Given the description of an element on the screen output the (x, y) to click on. 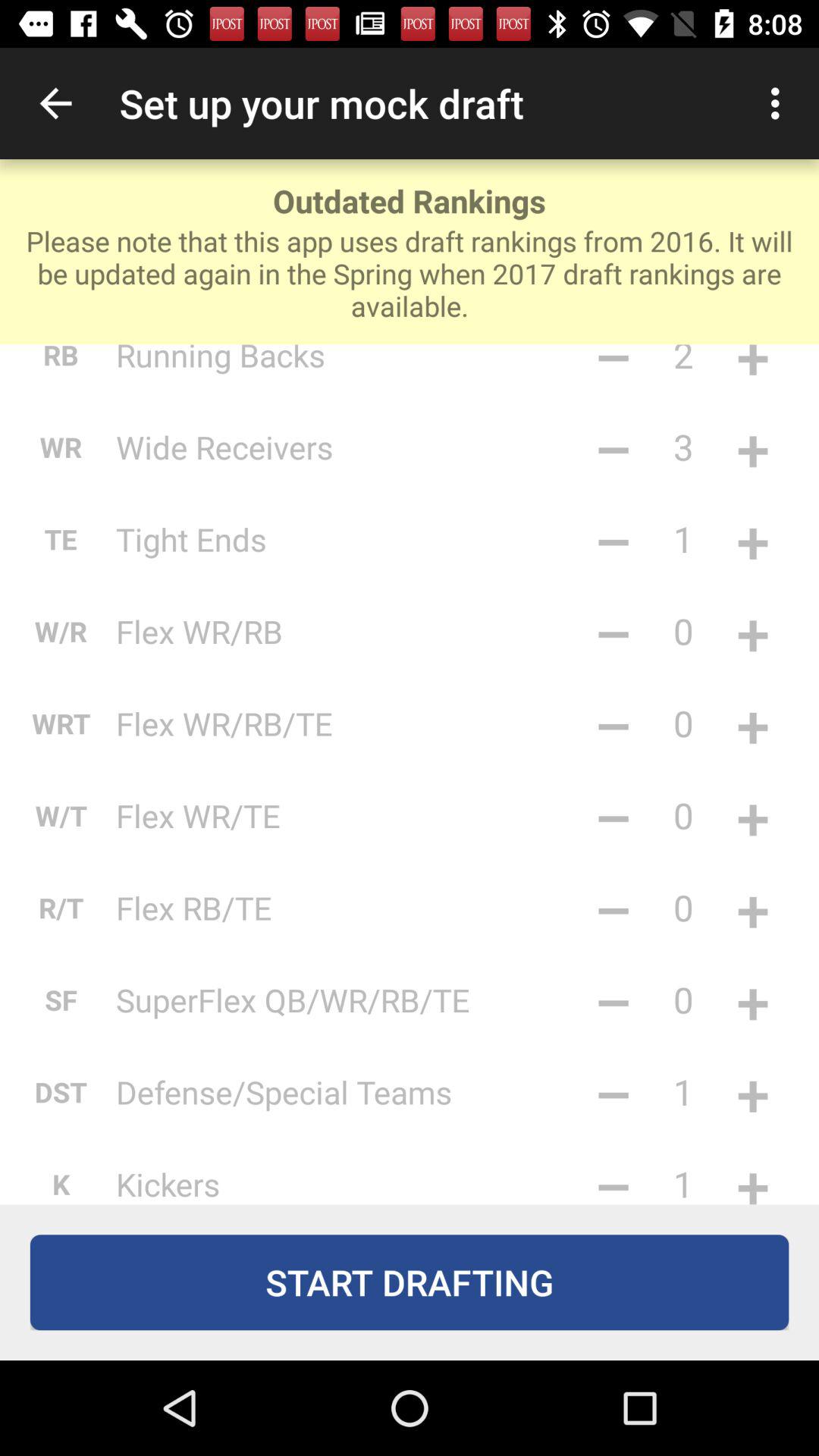
click icon next to set up your item (779, 103)
